Given the description of an element on the screen output the (x, y) to click on. 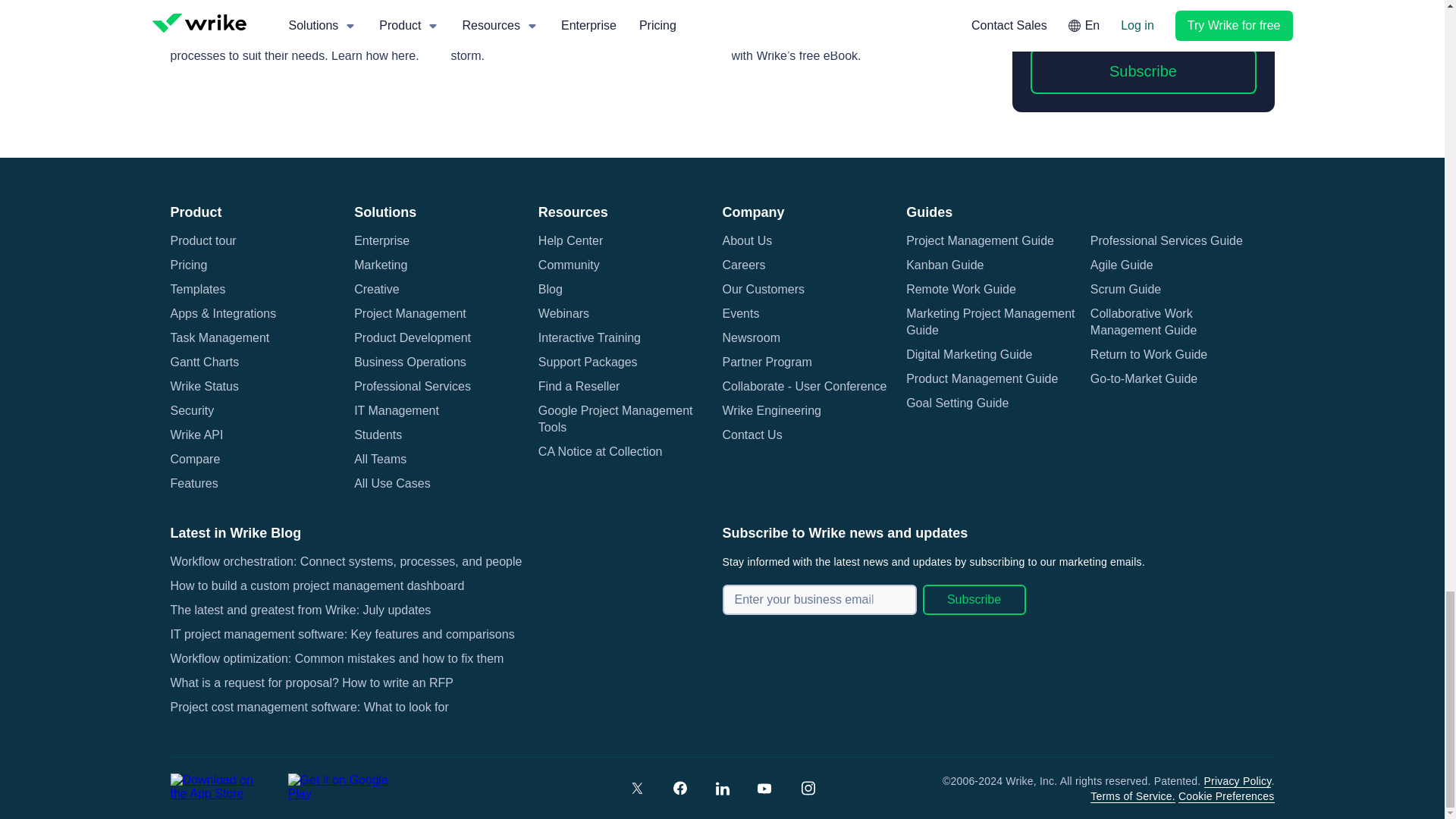
Wrike Status (204, 386)
Product tour (202, 241)
Pricing (188, 265)
Gantt Charts (204, 362)
Marketing (380, 265)
Task Management (219, 337)
Wrike API (196, 435)
Enterprise (381, 241)
Compare (194, 459)
Product Development (411, 337)
Security (192, 410)
Creative (375, 289)
Features (193, 483)
Business Operations (409, 362)
Project Management (409, 313)
